Given the description of an element on the screen output the (x, y) to click on. 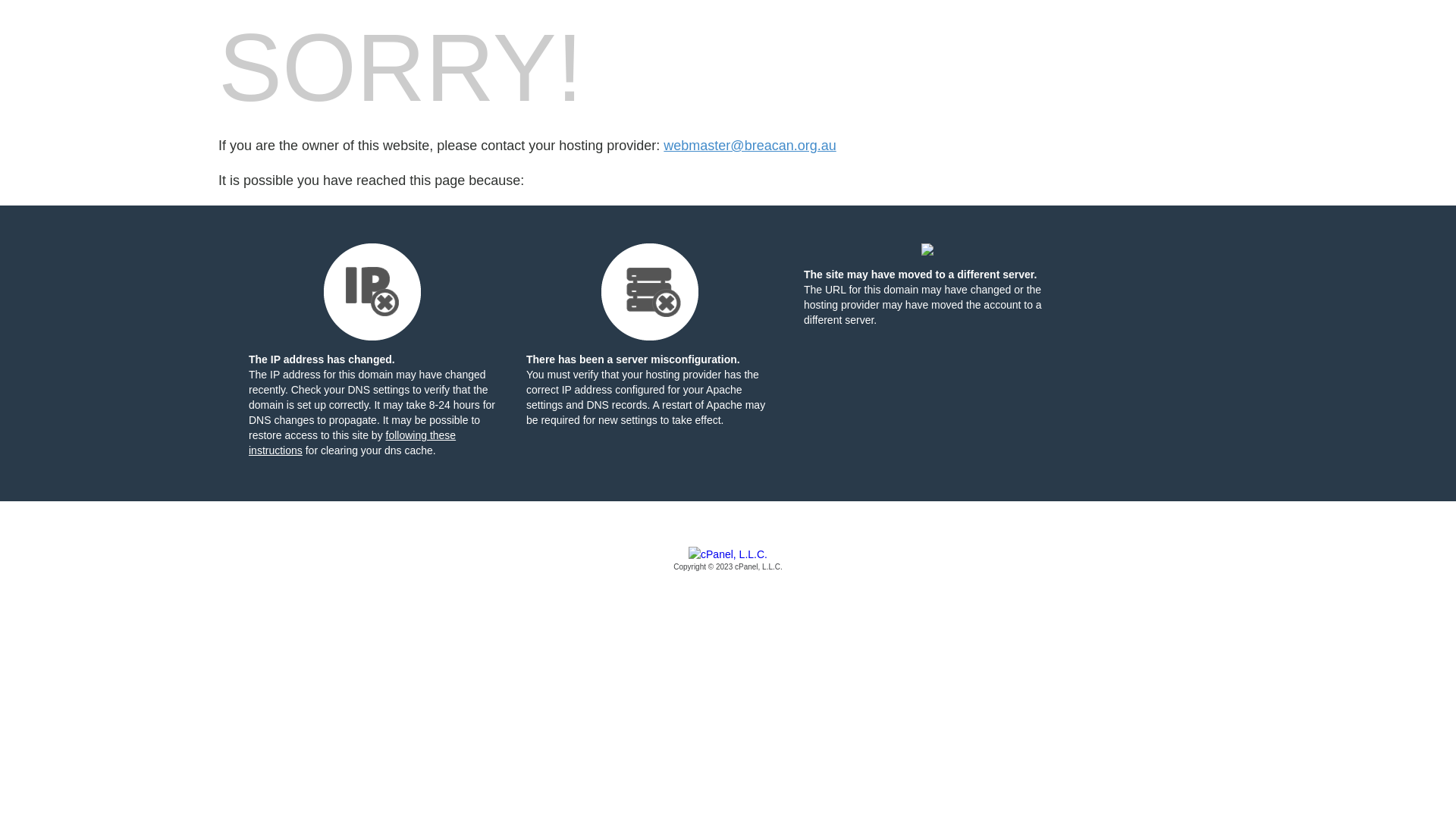
webmaster@breacan.org.au Element type: text (749, 145)
following these instructions Element type: text (351, 442)
